Given the description of an element on the screen output the (x, y) to click on. 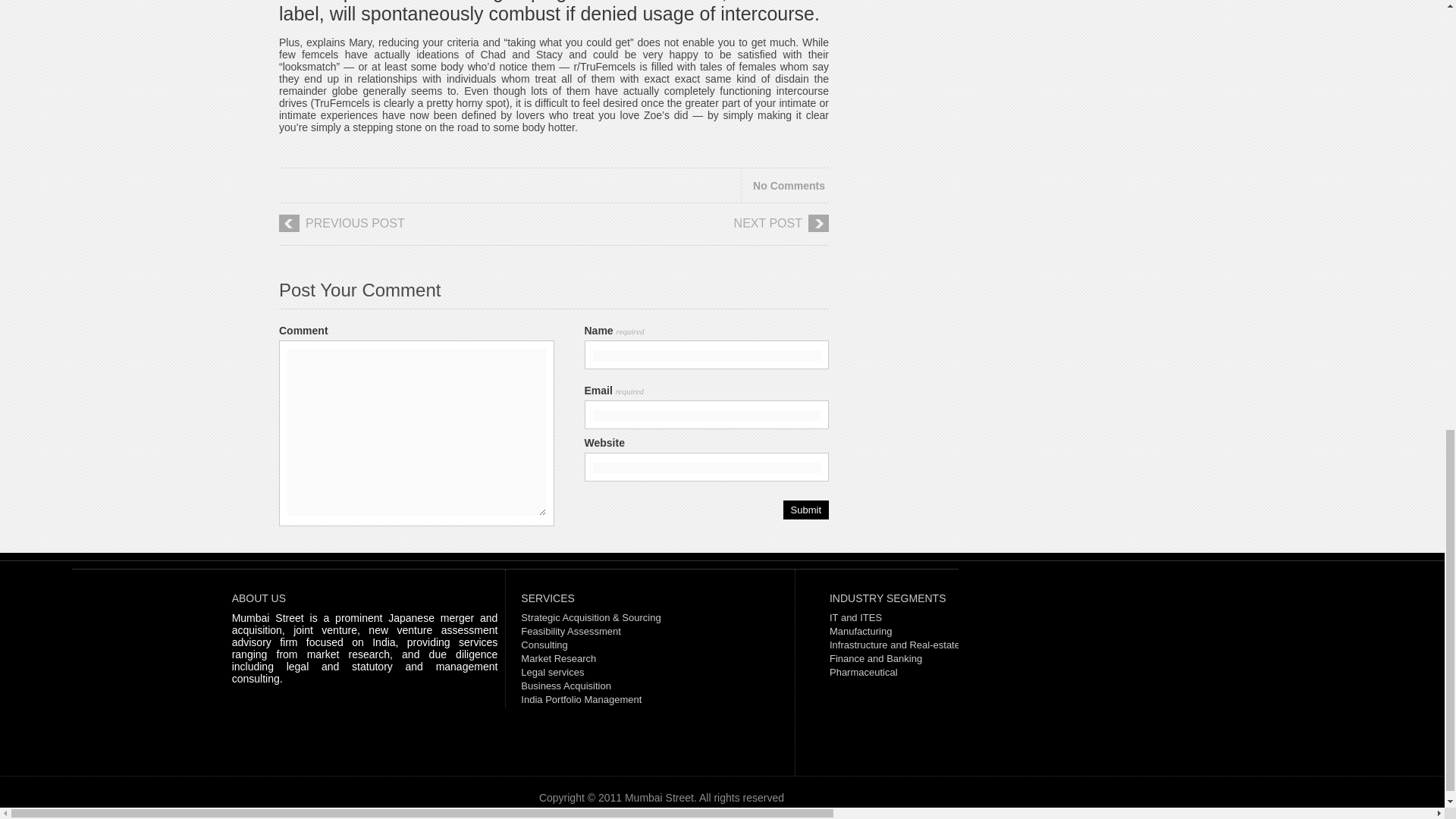
Submit (805, 509)
Feasibility Assessment (571, 631)
NEXT POST (705, 229)
Submit (805, 509)
No Comments (788, 185)
PREVIOUS POST (402, 229)
